Given the description of an element on the screen output the (x, y) to click on. 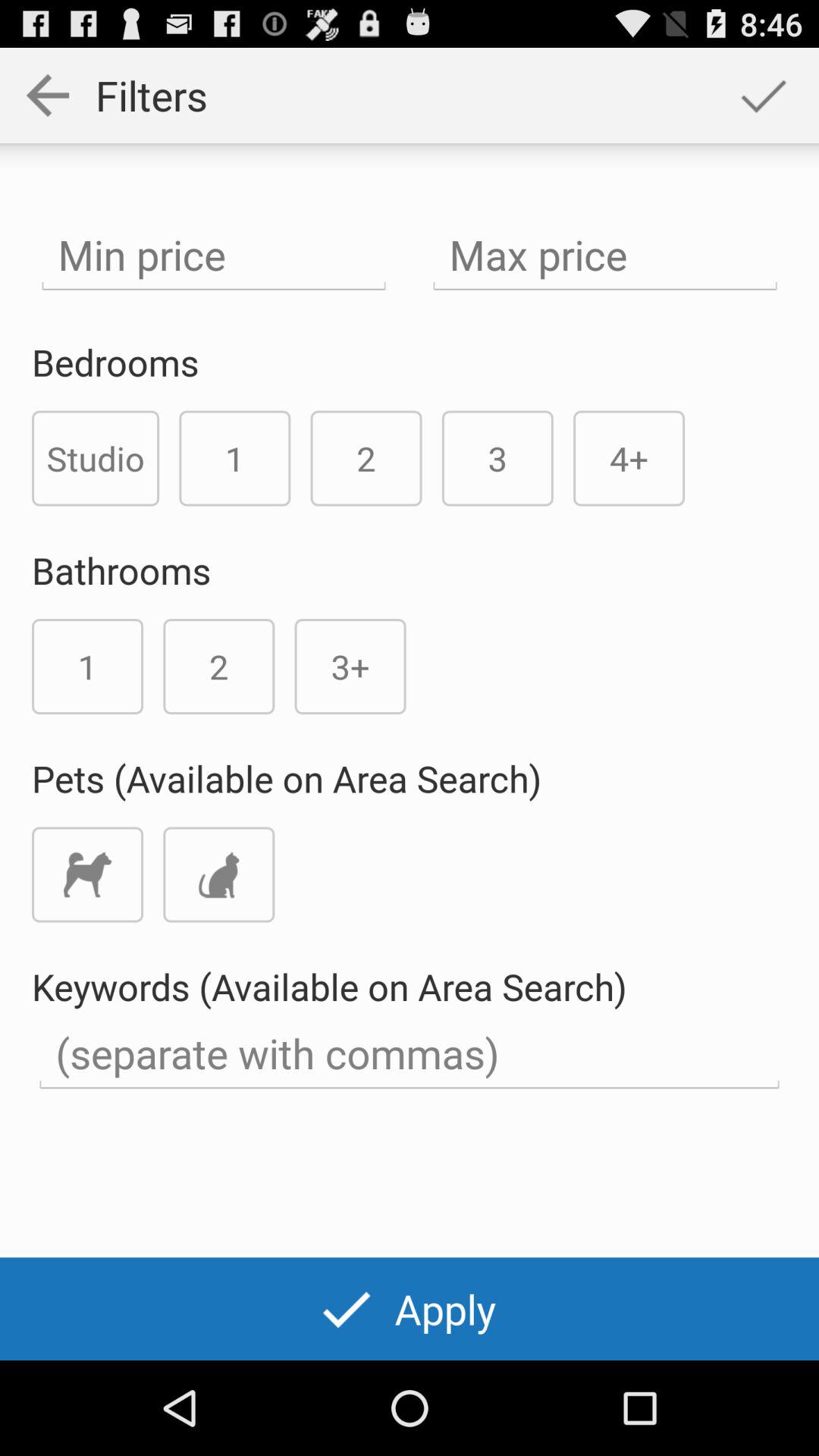
click on number 1 which is next to studio (234, 458)
click on the number 2 below the text bedrooms (366, 458)
click on the number 1 below the text bathrooms (87, 666)
click on cat icon (218, 875)
select the button 3 in bedrooms (497, 458)
select the button 3 in bathrooms (350, 666)
click on number 2 below bathrooms (218, 666)
